Given the description of an element on the screen output the (x, y) to click on. 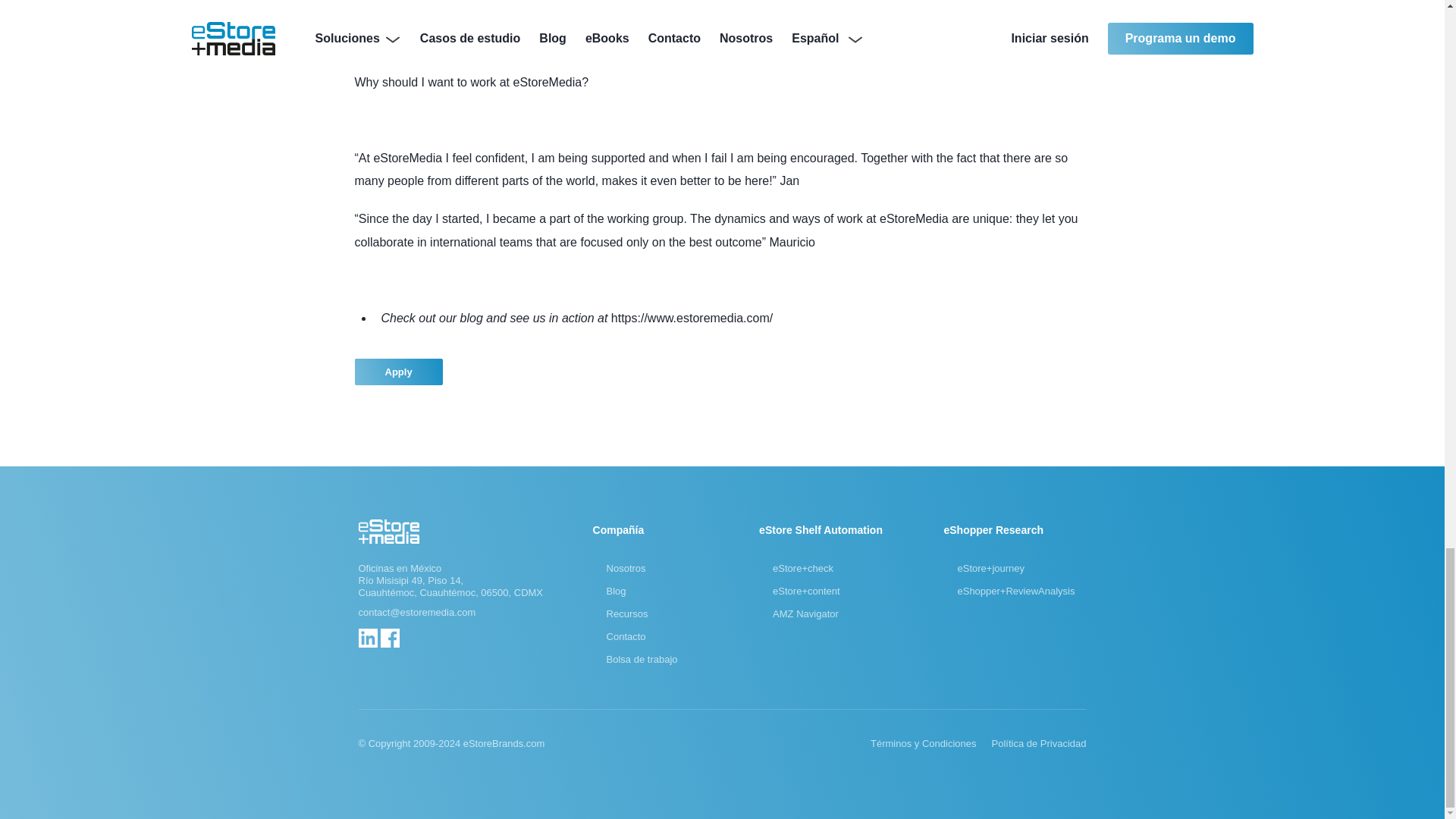
Apply (398, 371)
Recursos (627, 613)
Contacto (626, 636)
Bolsa de trabajo (642, 659)
Nosotros (626, 568)
Blog (616, 591)
